Given the description of an element on the screen output the (x, y) to click on. 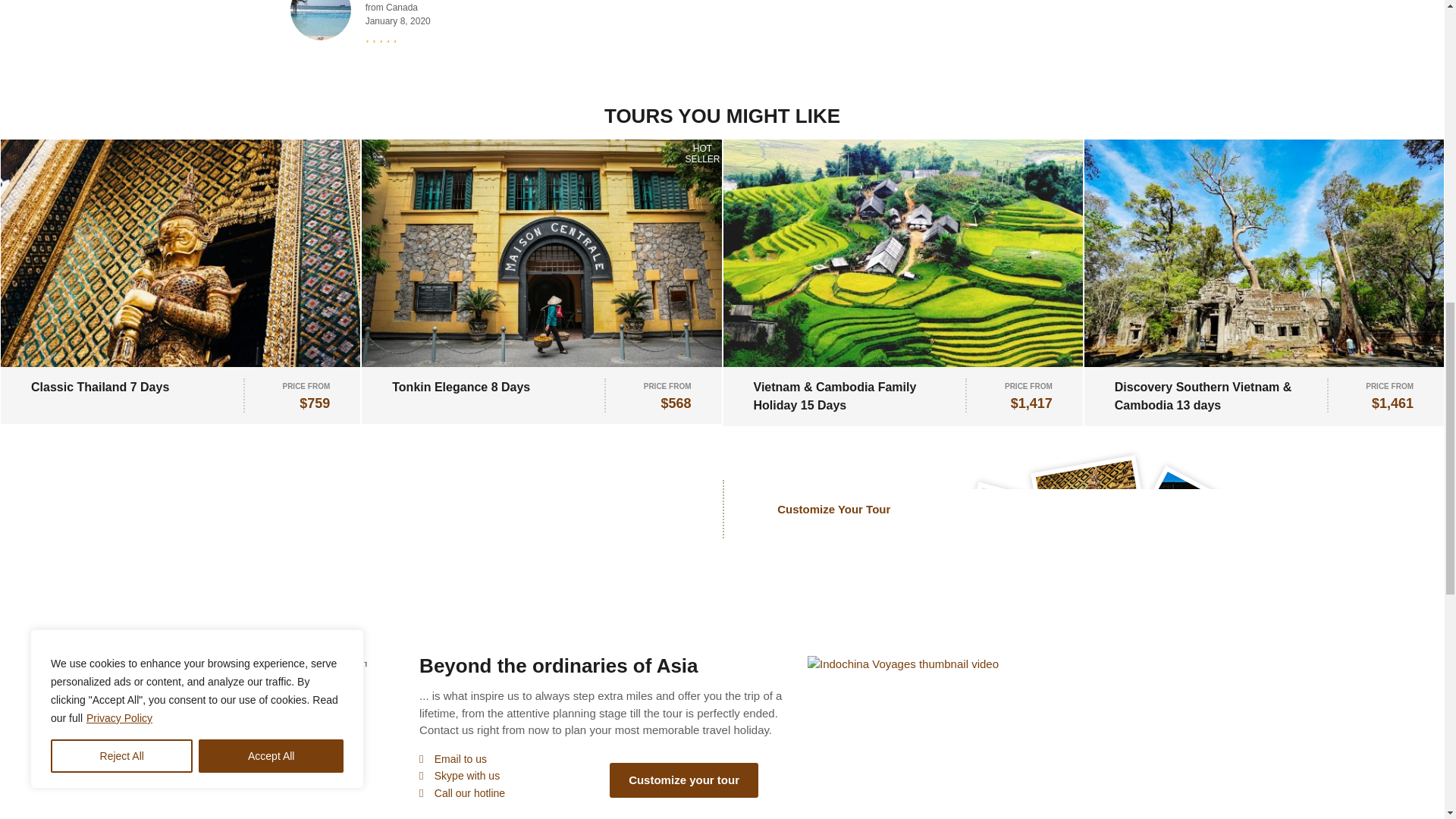
Indochina Voyages thumbnail video (903, 662)
Tonkin Elegance 8 Days (460, 386)
Classic Thailand 7 Days (99, 386)
